Given the description of an element on the screen output the (x, y) to click on. 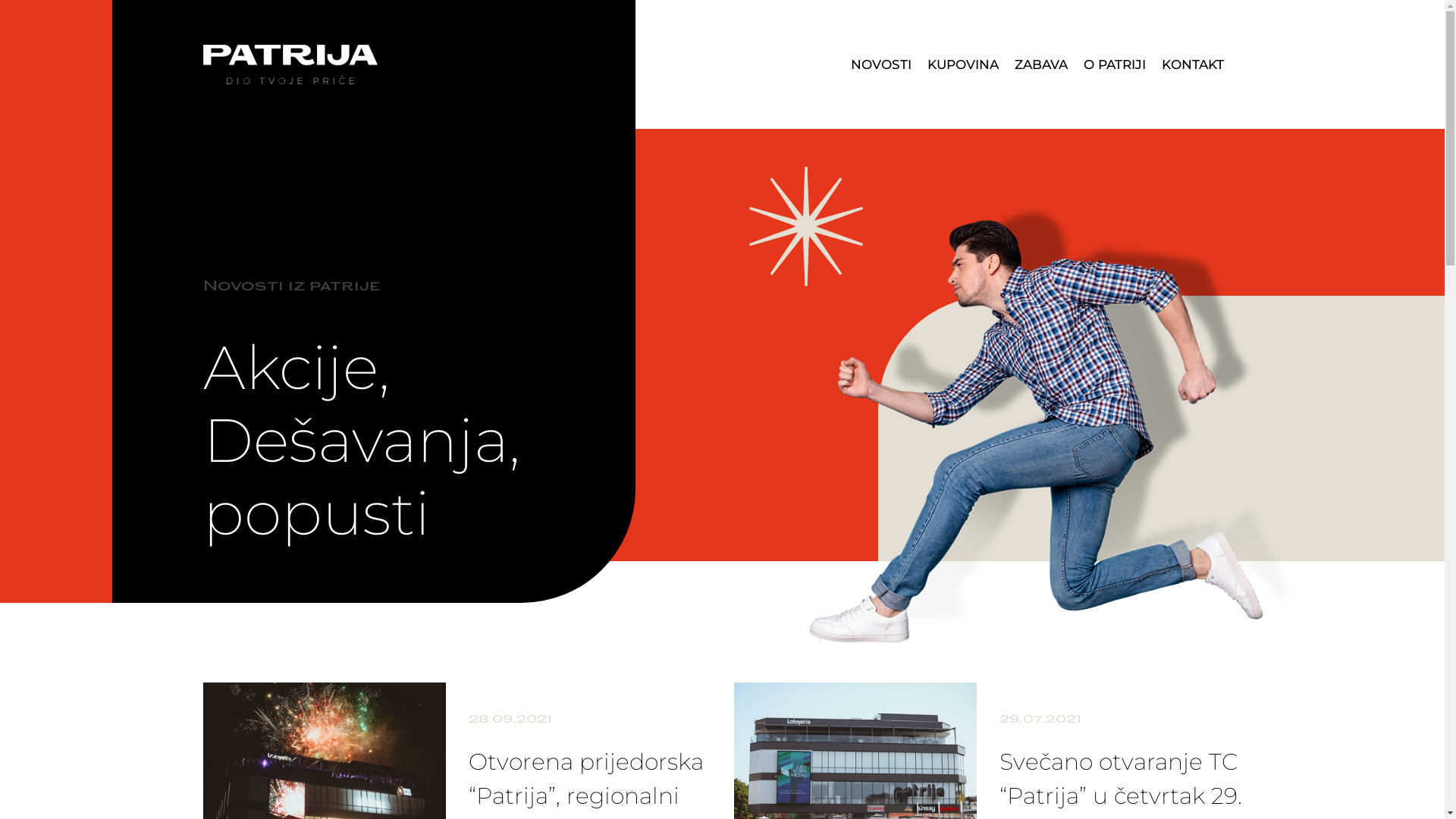
O PATRIJI Element type: text (1114, 65)
ZABAVA Element type: text (1040, 65)
KONTAKT Element type: text (1192, 65)
NOVOSTI Element type: text (880, 65)
KUPOVINA Element type: text (962, 65)
